Given the description of an element on the screen output the (x, y) to click on. 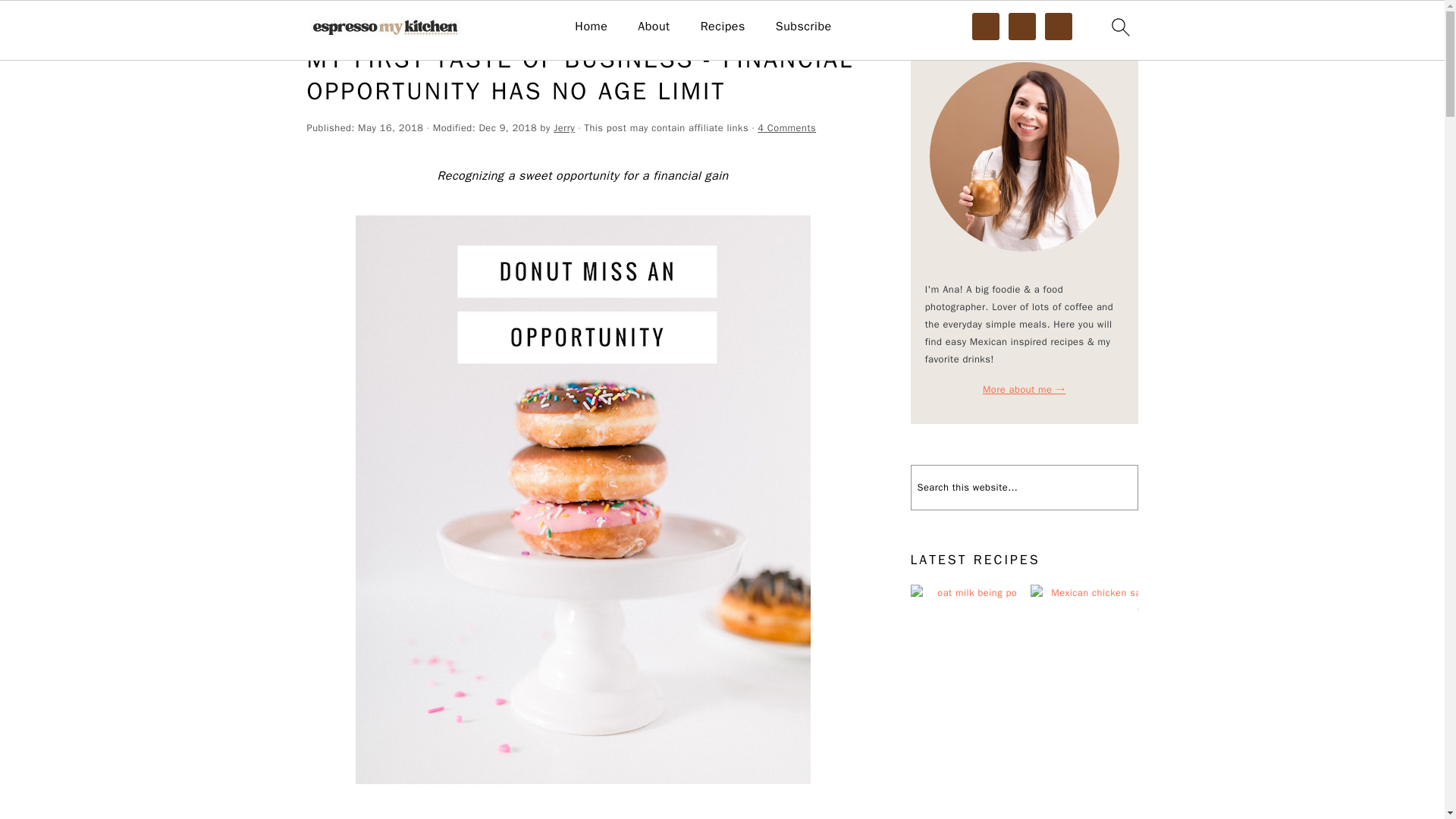
Wealth (361, 23)
Home (319, 23)
Subscribe (803, 26)
Recipes (722, 26)
About (653, 26)
Home (591, 26)
search icon (1119, 26)
4 Comments (786, 128)
Jerry (564, 128)
